Given the description of an element on the screen output the (x, y) to click on. 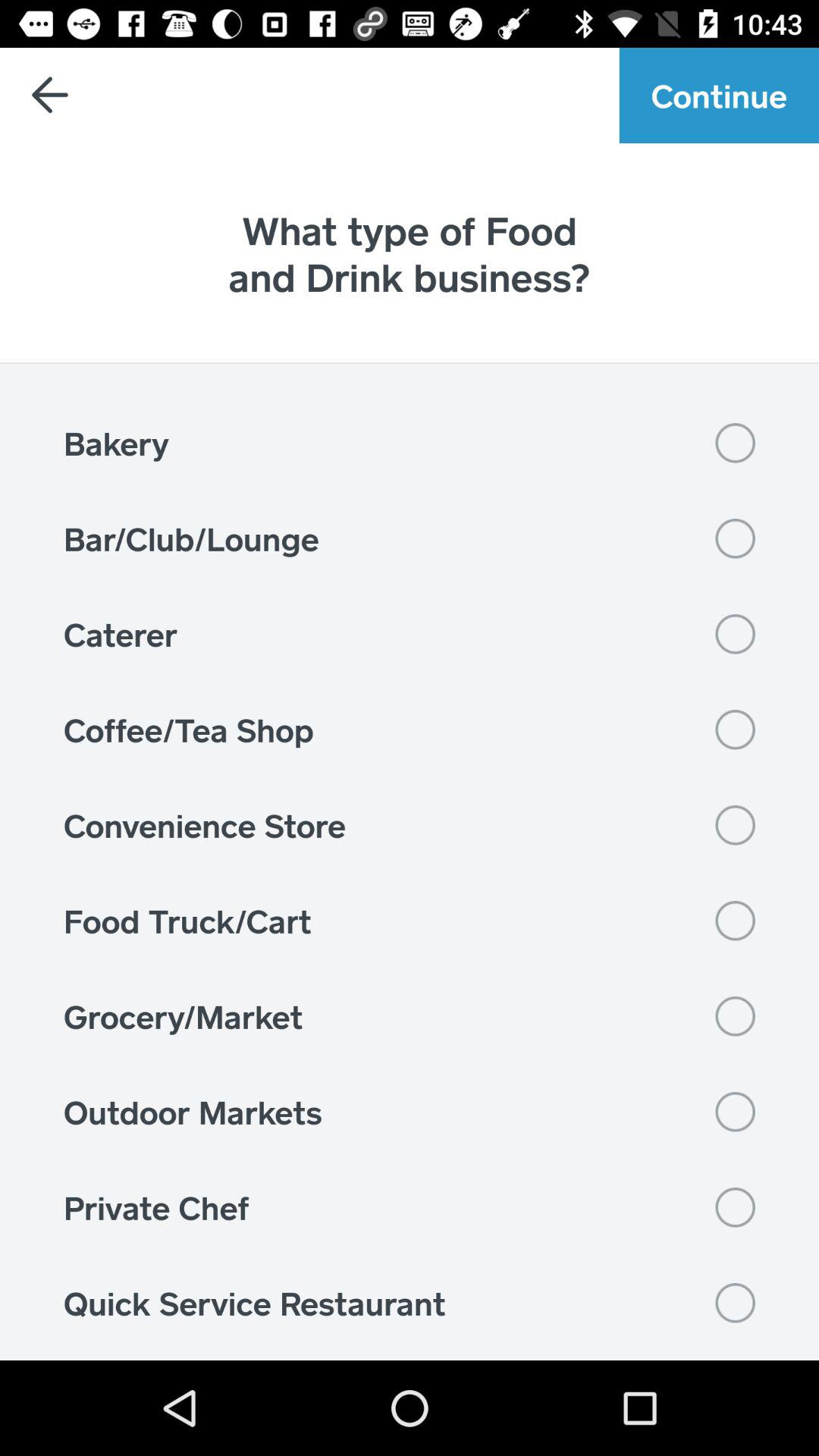
choose icon below bakery (409, 538)
